Given the description of an element on the screen output the (x, y) to click on. 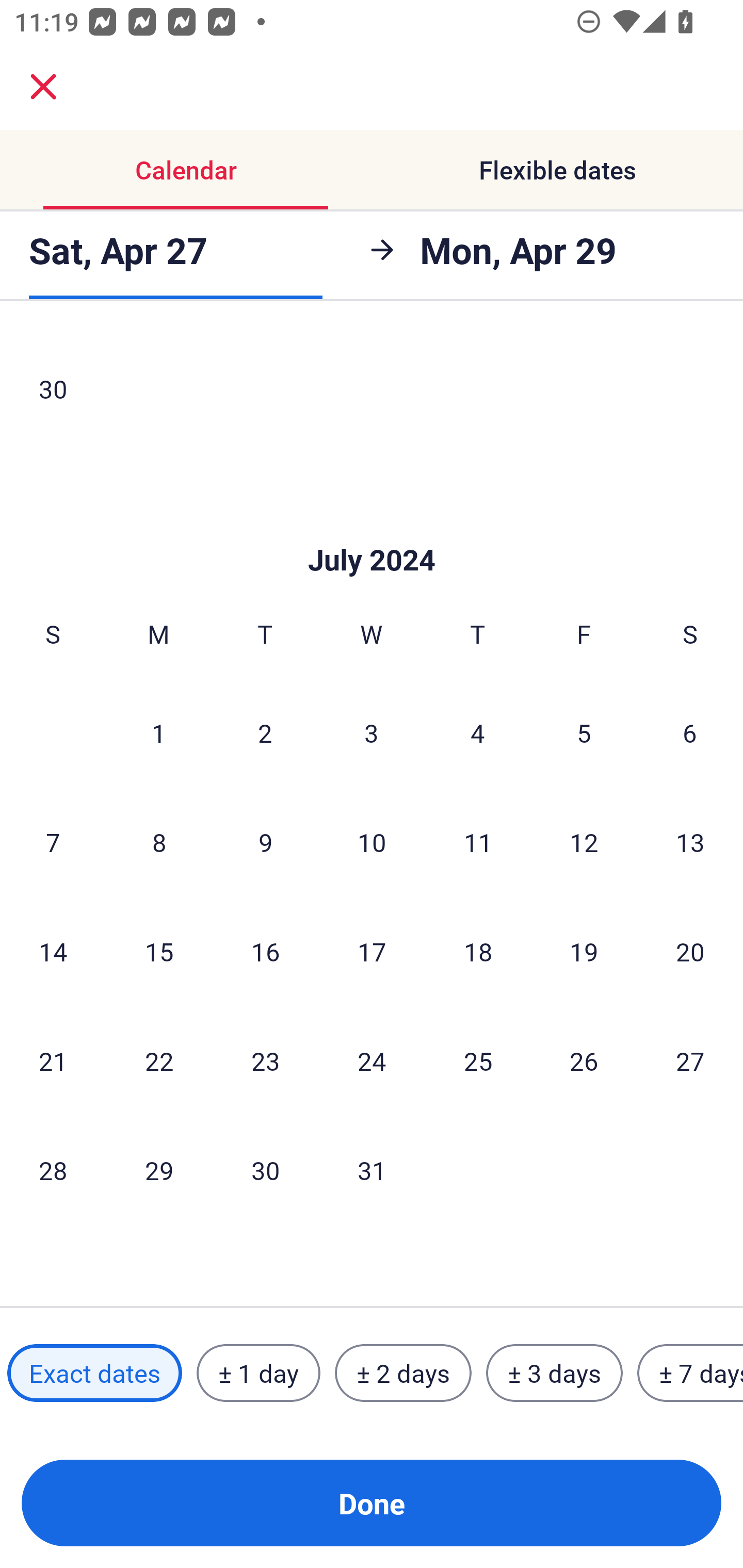
close. (43, 86)
Flexible dates (557, 170)
30 Sunday, June 30, 2024 (53, 388)
Skip to Done (371, 529)
1 Monday, July 1, 2024 (158, 732)
2 Tuesday, July 2, 2024 (264, 732)
3 Wednesday, July 3, 2024 (371, 732)
4 Thursday, July 4, 2024 (477, 732)
5 Friday, July 5, 2024 (583, 732)
6 Saturday, July 6, 2024 (689, 732)
7 Sunday, July 7, 2024 (53, 841)
8 Monday, July 8, 2024 (159, 841)
9 Tuesday, July 9, 2024 (265, 841)
10 Wednesday, July 10, 2024 (371, 841)
11 Thursday, July 11, 2024 (477, 841)
12 Friday, July 12, 2024 (584, 841)
13 Saturday, July 13, 2024 (690, 841)
14 Sunday, July 14, 2024 (53, 950)
15 Monday, July 15, 2024 (159, 950)
16 Tuesday, July 16, 2024 (265, 950)
17 Wednesday, July 17, 2024 (371, 950)
18 Thursday, July 18, 2024 (477, 950)
19 Friday, July 19, 2024 (584, 950)
20 Saturday, July 20, 2024 (690, 950)
21 Sunday, July 21, 2024 (53, 1060)
22 Monday, July 22, 2024 (159, 1060)
23 Tuesday, July 23, 2024 (265, 1060)
24 Wednesday, July 24, 2024 (371, 1060)
25 Thursday, July 25, 2024 (477, 1060)
26 Friday, July 26, 2024 (584, 1060)
27 Saturday, July 27, 2024 (690, 1060)
28 Sunday, July 28, 2024 (53, 1169)
29 Monday, July 29, 2024 (159, 1169)
30 Tuesday, July 30, 2024 (265, 1169)
31 Wednesday, July 31, 2024 (371, 1169)
Exact dates (94, 1372)
± 1 day (258, 1372)
± 2 days (403, 1372)
± 3 days (553, 1372)
± 7 days (690, 1372)
Done (371, 1502)
